Given the description of an element on the screen output the (x, y) to click on. 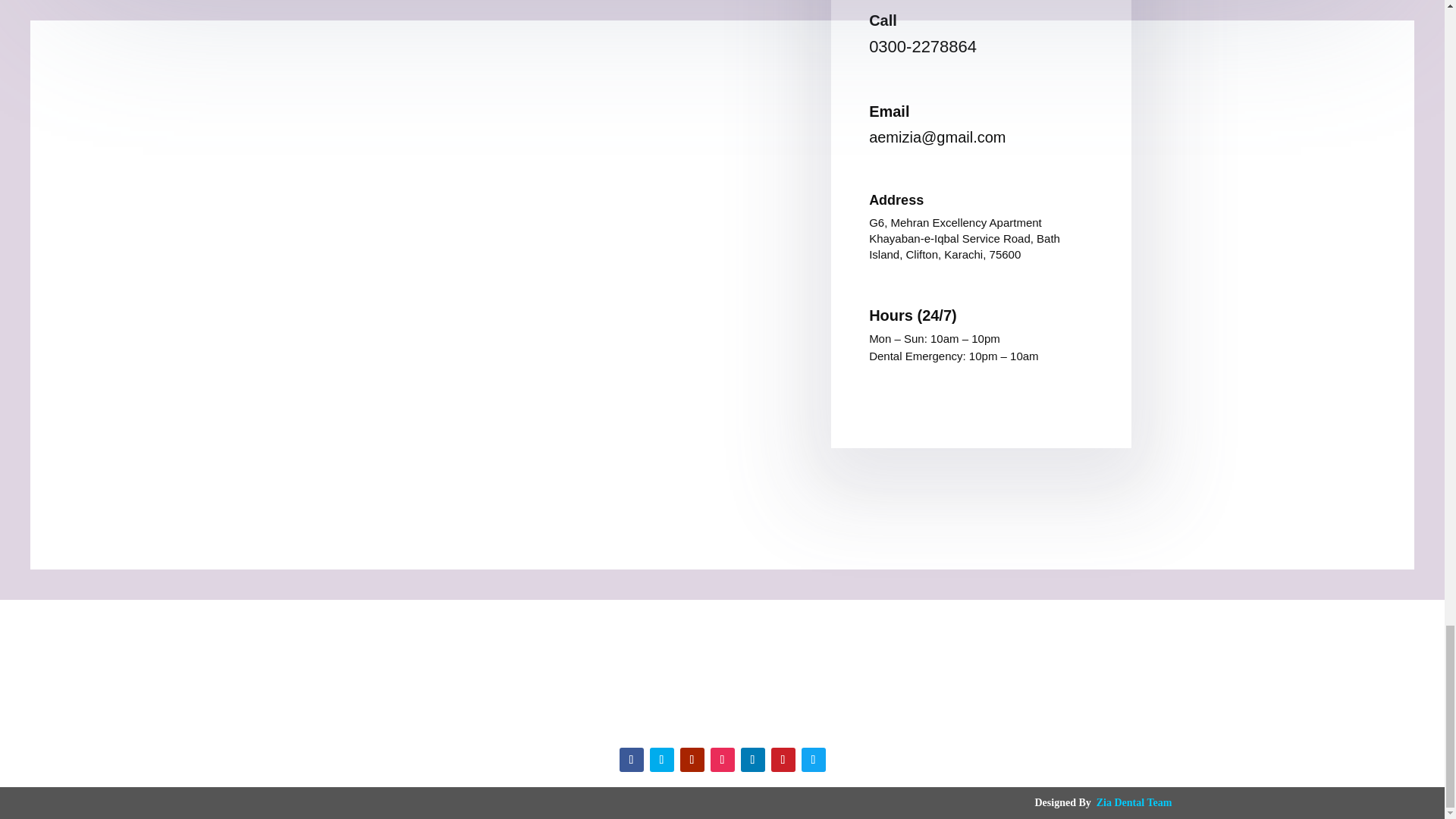
Follow on Pinterest (782, 759)
Follow on skype (812, 759)
Follow on LinkedIn (751, 759)
Follow on Facebook (630, 759)
Follow on Instagram (721, 759)
dentist in karachi (721, 675)
Follow on Twitter (660, 759)
Follow on Youtube (691, 759)
